Given the description of an element on the screen output the (x, y) to click on. 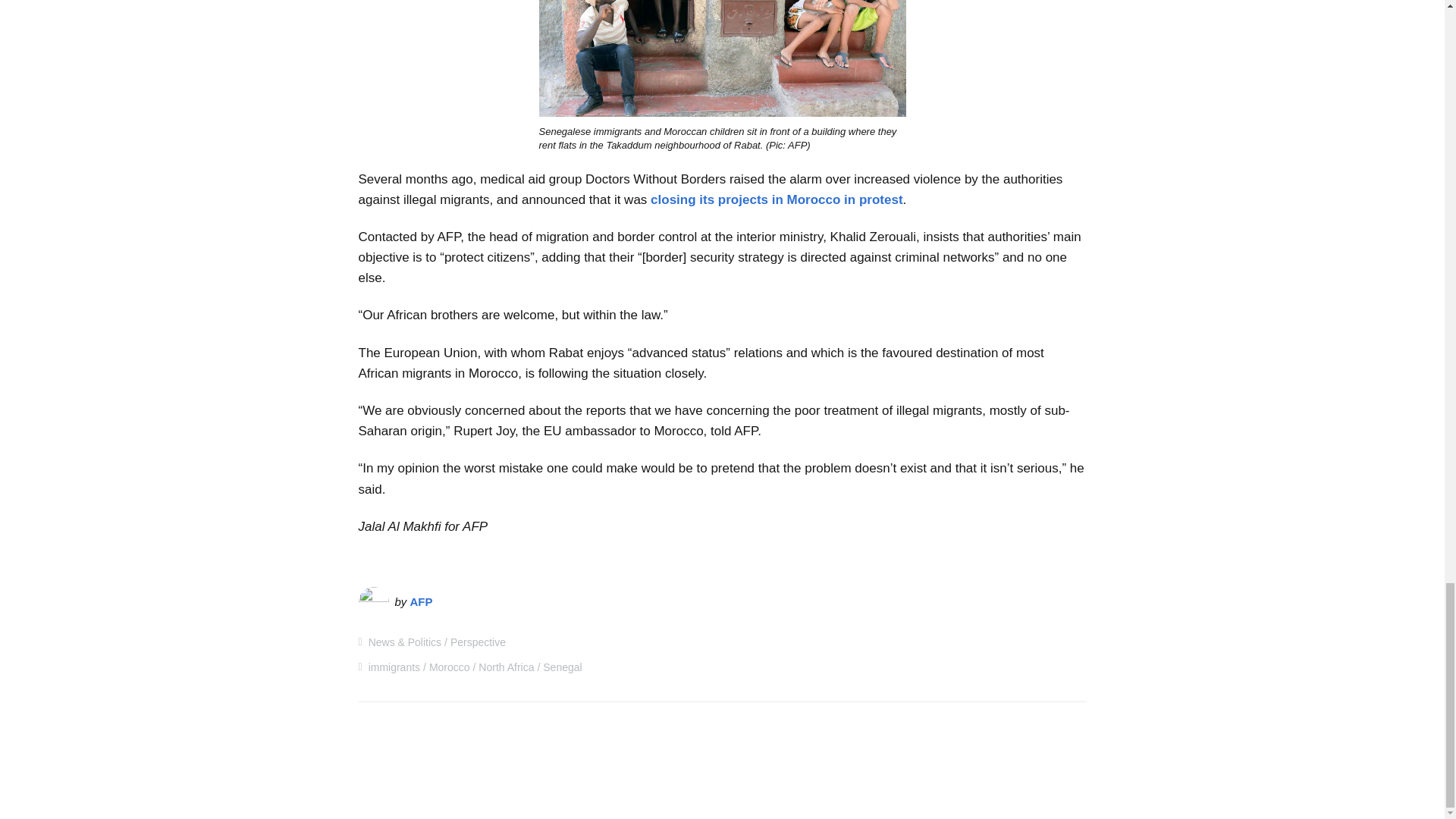
immigrants (394, 666)
Morocco (449, 666)
AFP (421, 601)
Perspective (477, 642)
North Africa (506, 666)
Senegal (561, 666)
closing its projects in Morocco in protest (776, 199)
